Given the description of an element on the screen output the (x, y) to click on. 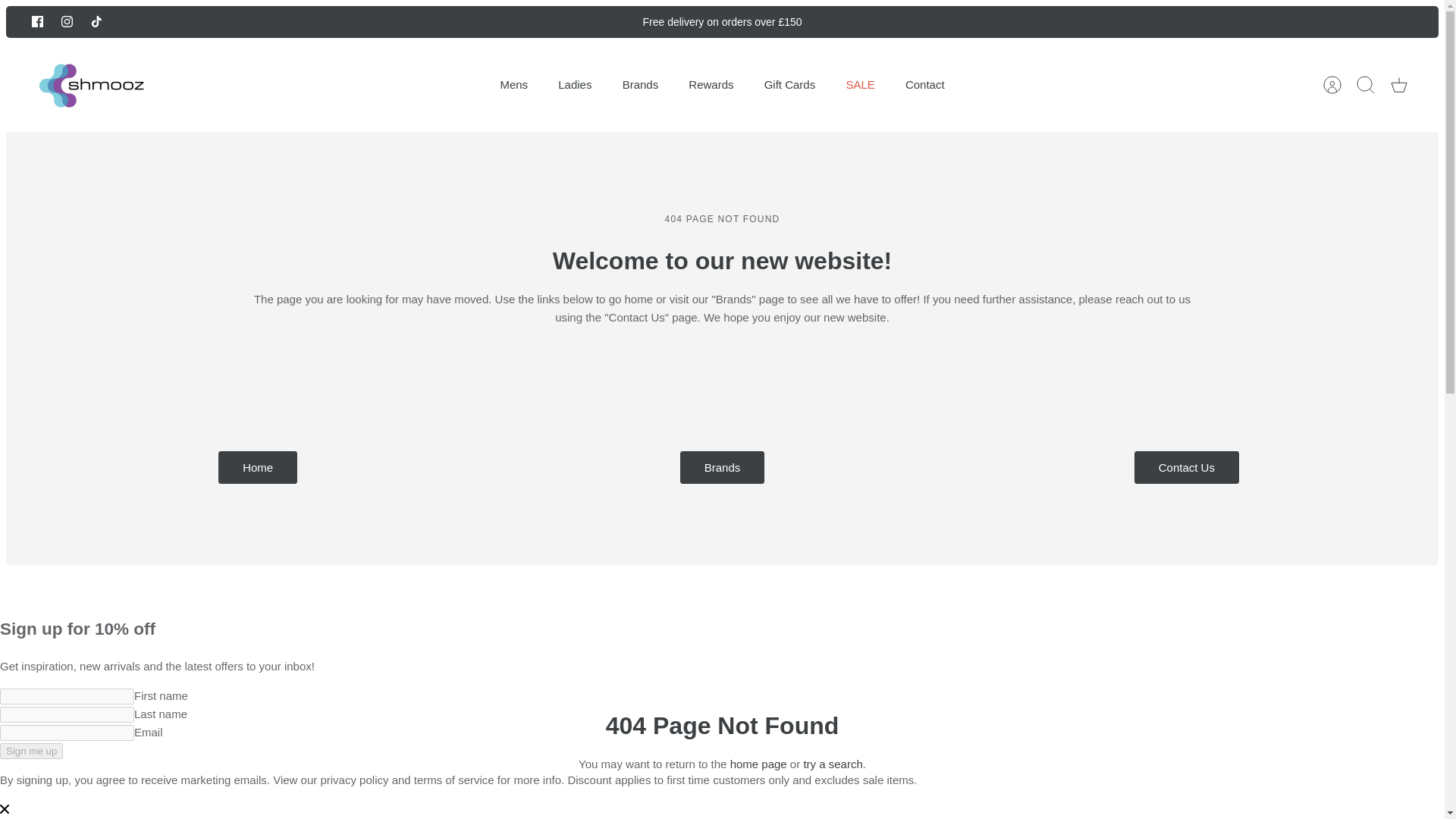
Mens (513, 85)
Facebook (37, 21)
Instagram (66, 21)
Instagram (66, 21)
Shmooz (91, 84)
Facebook (37, 21)
